Given the description of an element on the screen output the (x, y) to click on. 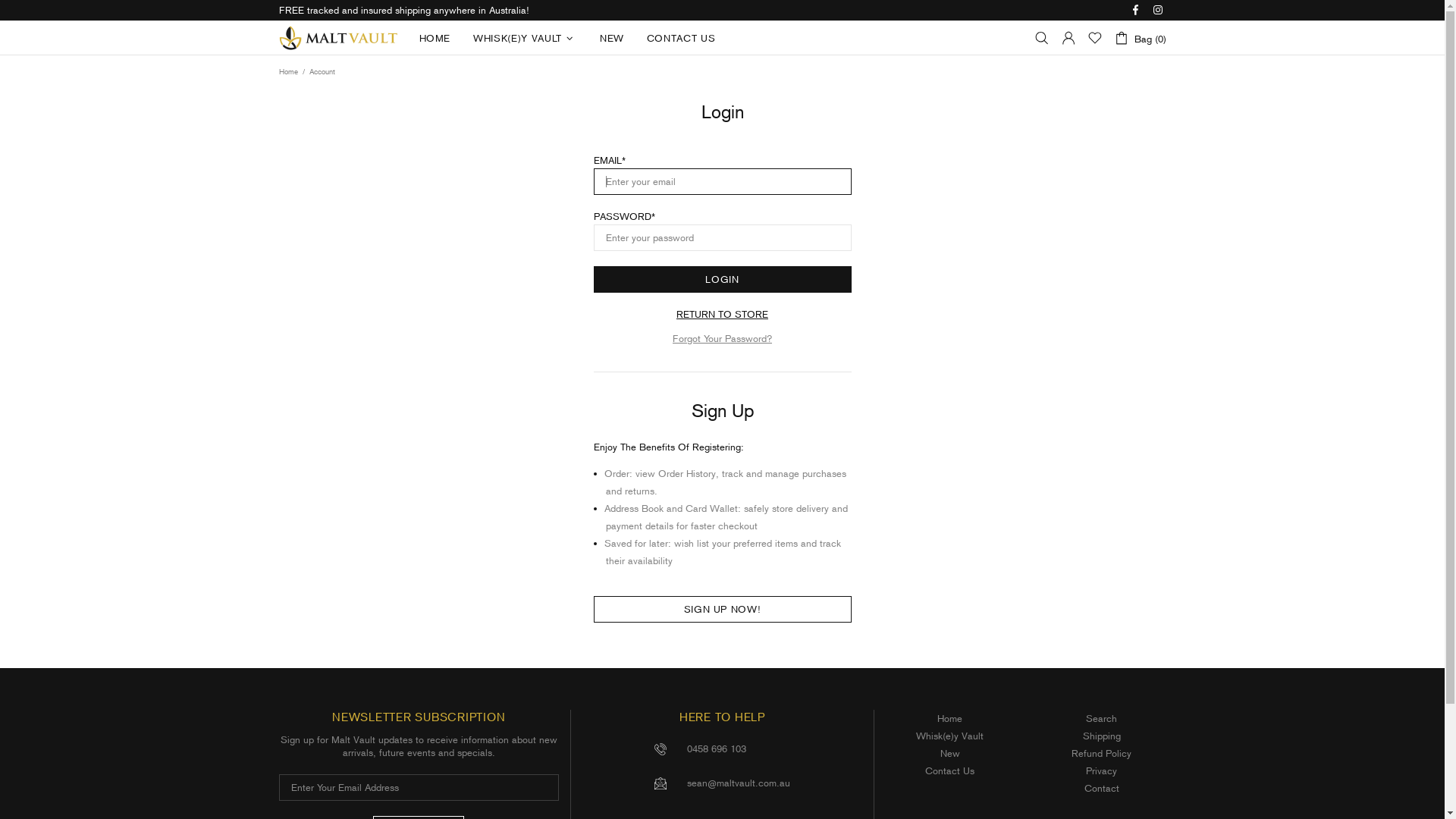
NEW Element type: text (611, 38)
Contact Us Element type: text (949, 770)
Refund Policy Element type: text (1101, 753)
Whisk(e)y Vault Element type: text (949, 735)
Contact Element type: text (1101, 788)
CONTACT US Element type: text (681, 38)
Search Element type: text (1101, 718)
HOME Element type: text (434, 38)
The Malt Vault Element type: text (339, 37)
Privacy Element type: text (1101, 770)
sean@maltvault.com.au Element type: text (738, 782)
Home Element type: text (949, 718)
New Element type: text (950, 753)
WHISK(E)Y VAULT Element type: text (524, 38)
LOGIN Element type: text (721, 279)
Forgot Your Password? Element type: text (721, 338)
Shipping Element type: text (1101, 735)
Home Element type: text (287, 71)
SIGN UP NOW! Element type: text (721, 609)
RETURN TO STORE Element type: text (722, 313)
Bag (0) Element type: text (1139, 37)
